Given the description of an element on the screen output the (x, y) to click on. 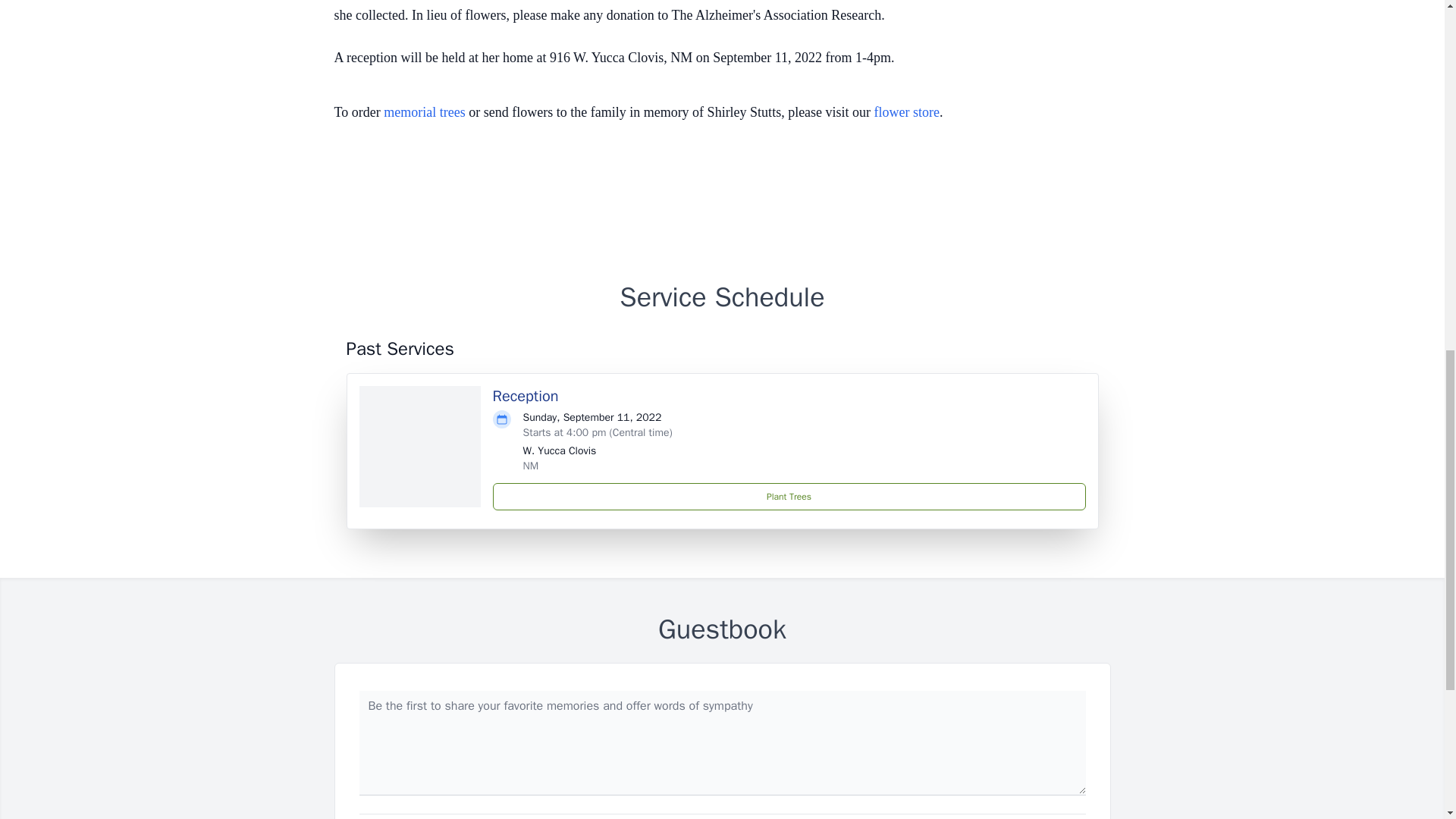
Plant Trees (789, 496)
NM (530, 465)
flower store (907, 111)
memorial trees (424, 111)
